Given the description of an element on the screen output the (x, y) to click on. 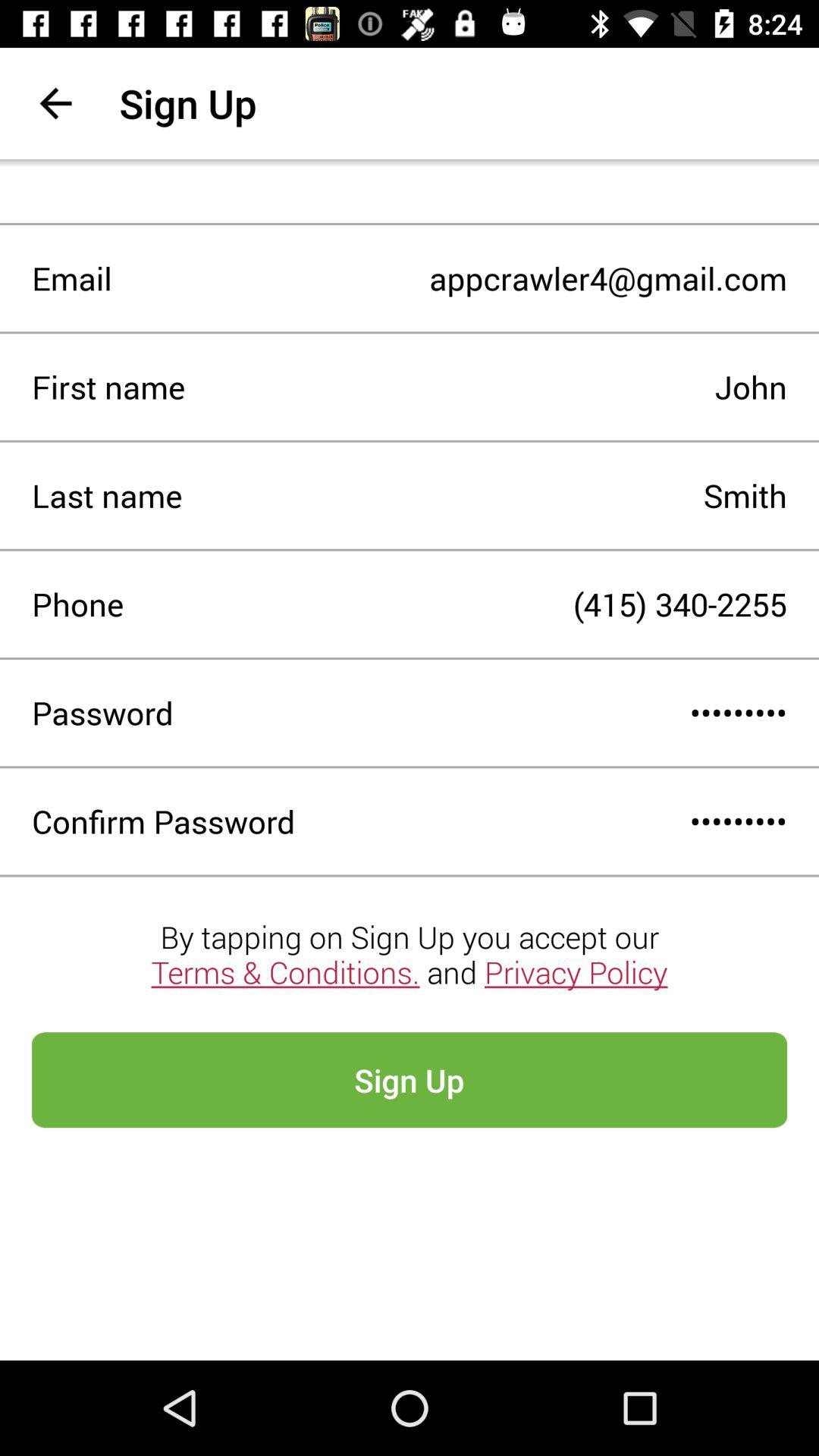
open the appcrawler4@gmail.com item (449, 278)
